Given the description of an element on the screen output the (x, y) to click on. 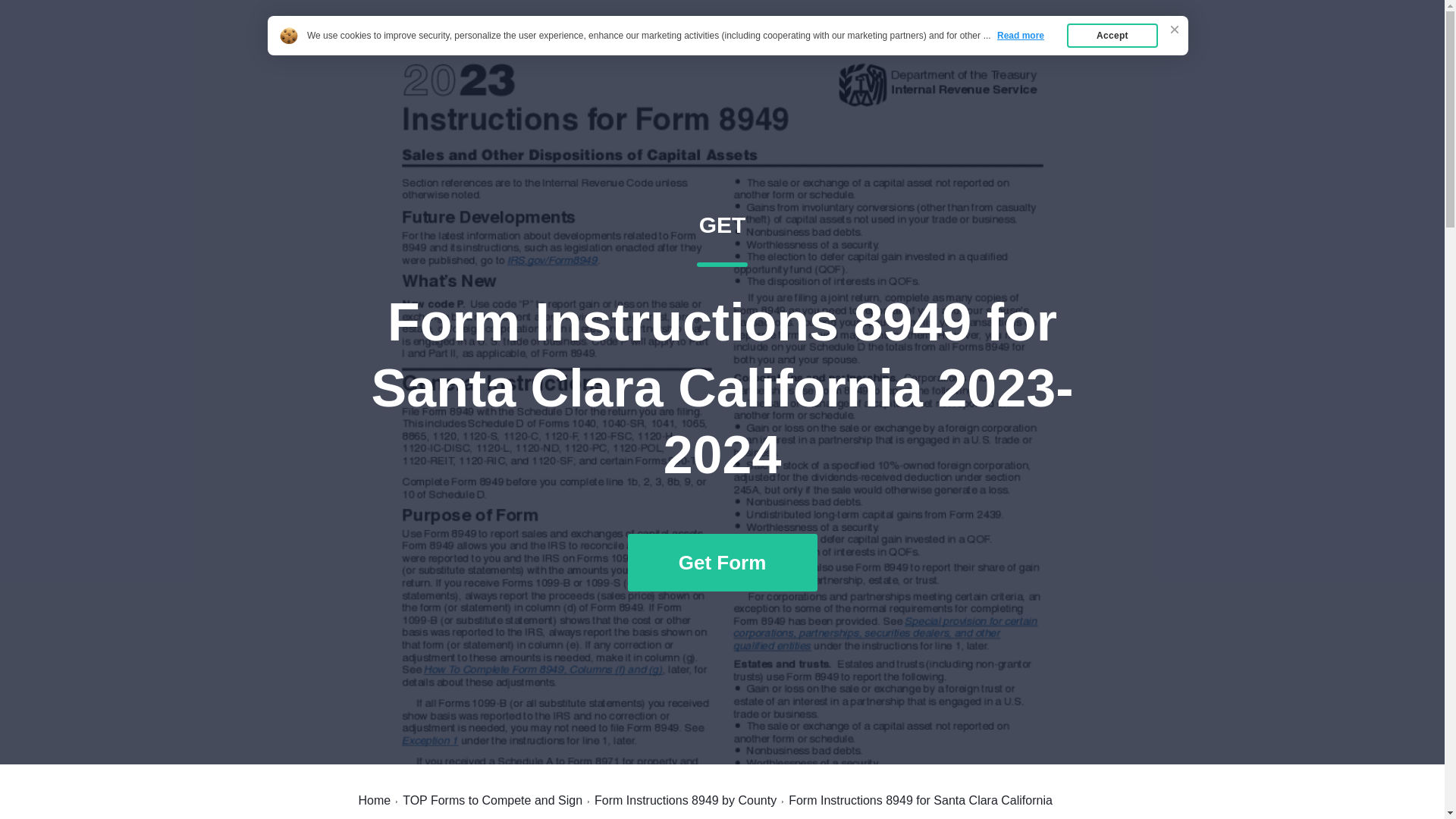
Home (374, 800)
Form Instructions 8949 by County (685, 800)
Form 8949 Instructions (454, 46)
Top Forms (1062, 47)
Home (987, 47)
TOP Forms to Compete and Sign (492, 800)
